Given the description of an element on the screen output the (x, y) to click on. 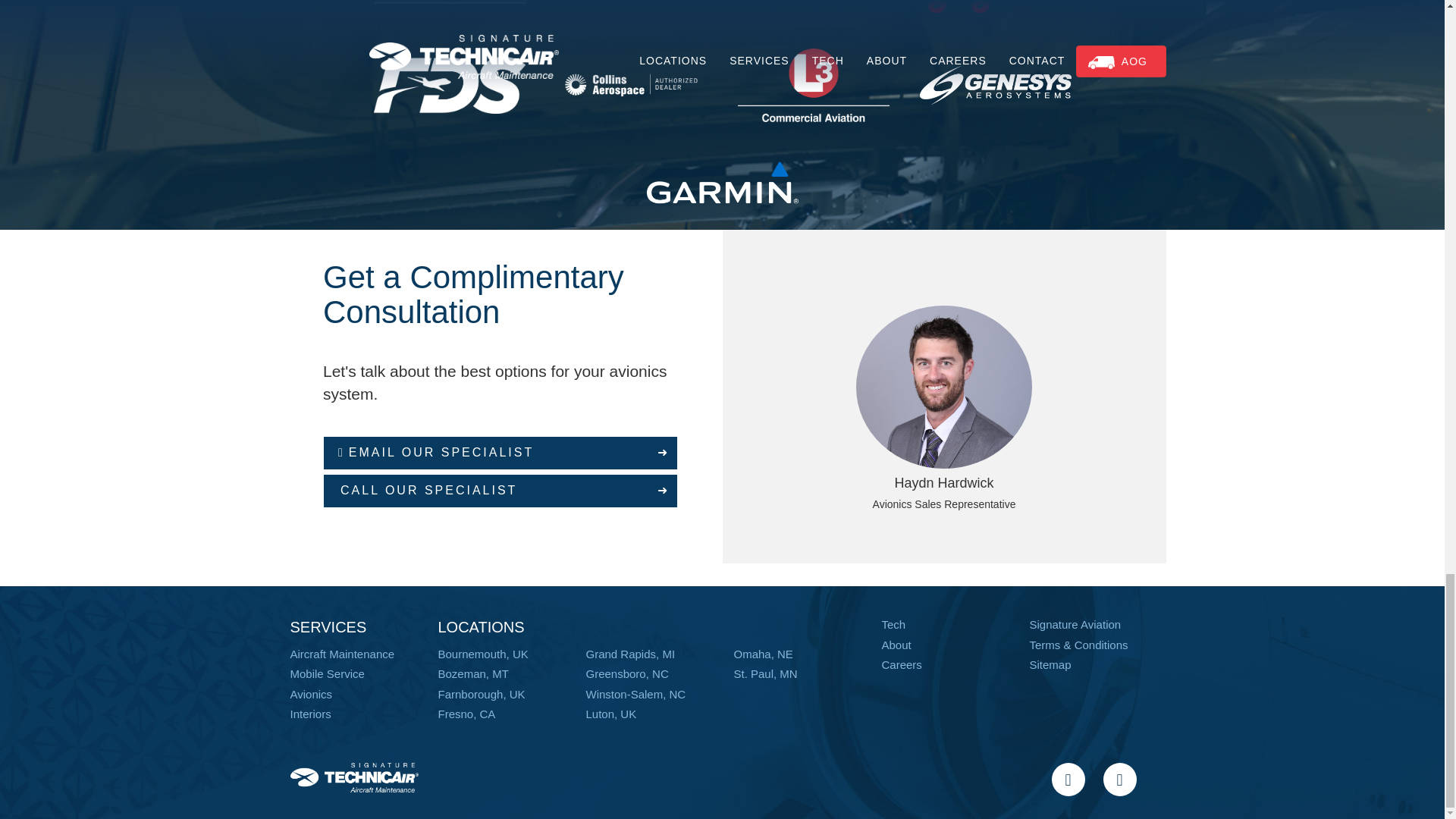
Greensboro, NC (626, 673)
Mobile Service (326, 673)
Bozeman, MT (473, 673)
Avionics (310, 694)
Interiors (309, 713)
Farnborough, UK (481, 694)
CALL OUR SPECIALIST (500, 490)
Grand Rapids, MI (630, 653)
Bournemouth, UK (483, 653)
EMAIL OUR SPECIALIST (500, 452)
Aircraft Maintenance (341, 653)
Fresno, CA (467, 713)
